Given the description of an element on the screen output the (x, y) to click on. 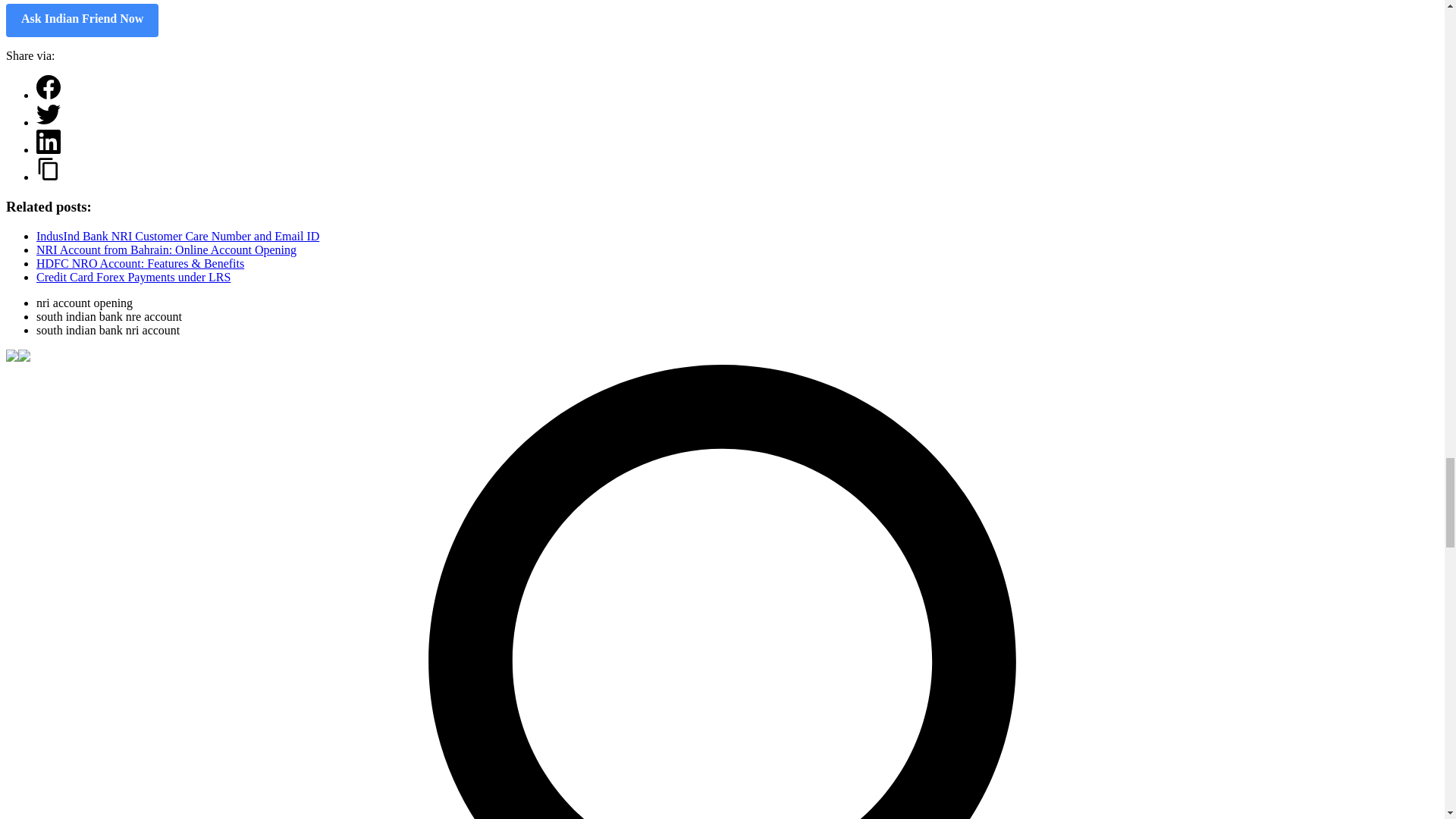
NRI Account from Bahrain: Online Account Opening (166, 249)
IndusInd Bank NRI Customer Care Number and Email ID (177, 236)
Credit Card Forex Payments under LRS (133, 277)
Open NRI Account (81, 20)
